Given the description of an element on the screen output the (x, y) to click on. 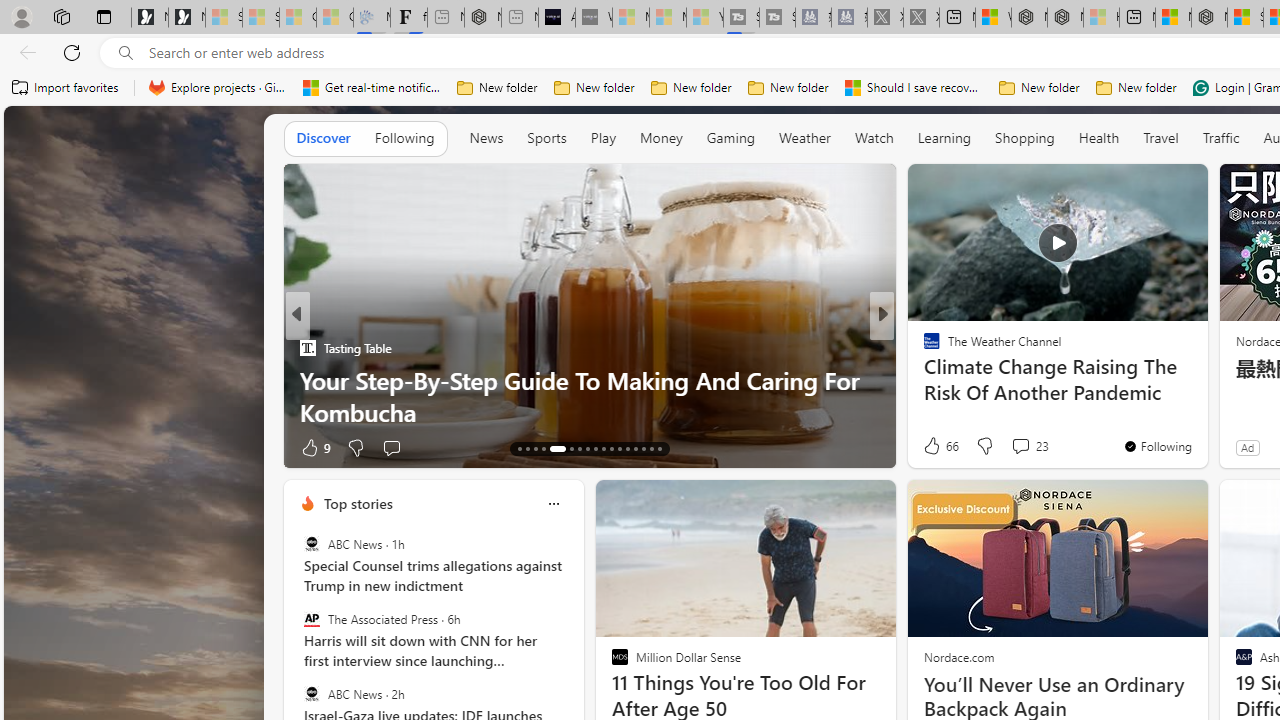
AI Voice Changer for PC and Mac - Voice.ai (556, 17)
Cents + Purpose (923, 380)
490 Like (936, 447)
Search icon (125, 53)
Nordace - Nordace Siena Is Not An Ordinary Backpack (1209, 17)
View comments 50 Comment (1021, 447)
AutomationID: tab-16 (542, 448)
The Associated Press (311, 619)
